Given the description of an element on the screen output the (x, y) to click on. 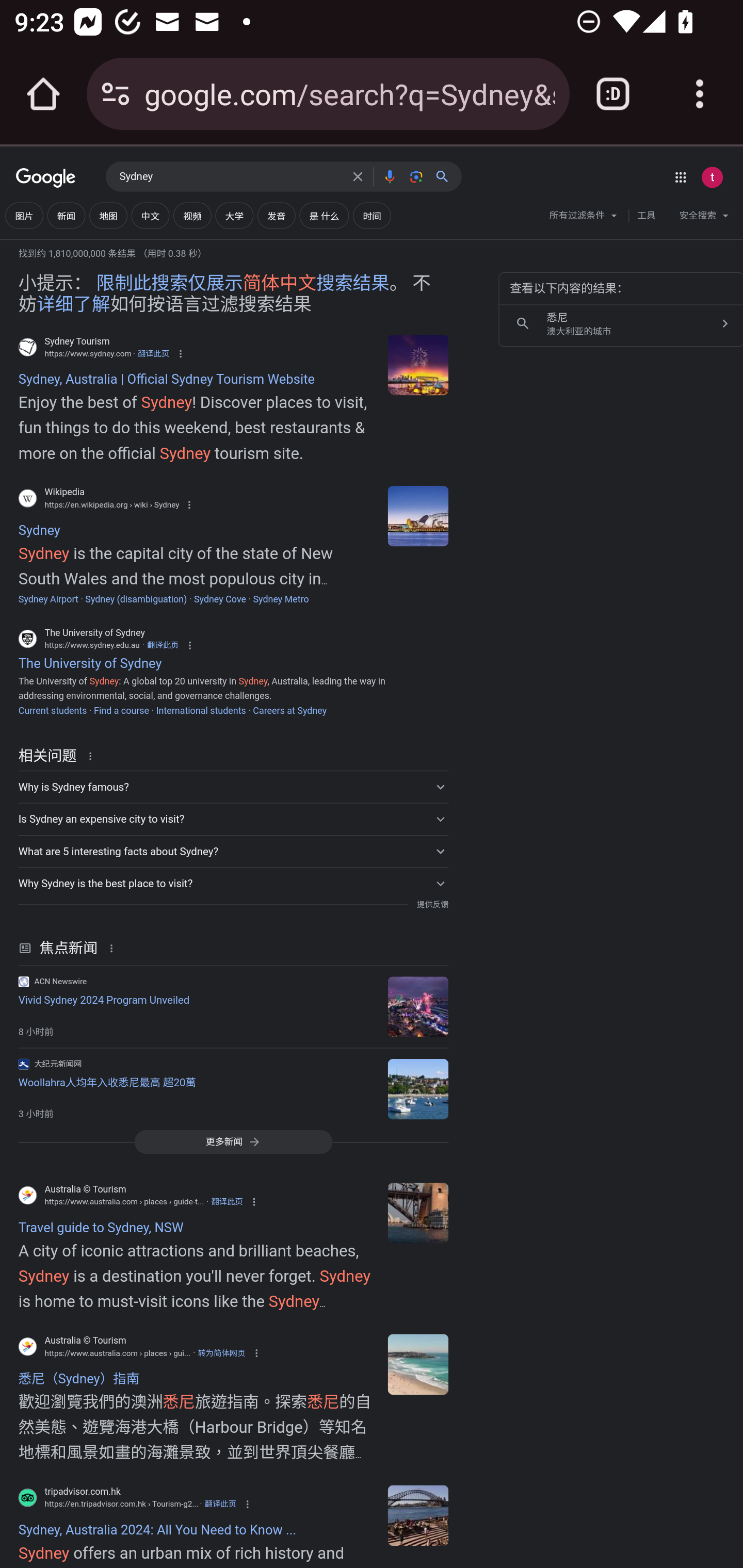
Open the home page (43, 93)
Connection is secure (115, 93)
Switch or close tabs (612, 93)
Customize and control Google Chrome (699, 93)
清除 (357, 176)
按语音搜索 (389, 176)
按图搜索 (415, 176)
搜索 (446, 176)
Google 应用 (680, 176)
Google 账号： test appium (testappium002@gmail.com) (712, 176)
Google (45, 178)
Sydney (229, 177)
图片 (24, 215)
新闻 (65, 215)
地图 (107, 215)
添加“中文” 中文 (149, 215)
视频 (191, 215)
添加“大学” 大学 (234, 215)
添加“发音” 发音 (276, 215)
添加“是 什么” 是 什么 (324, 215)
添加“时间” 时间 (371, 215)
所有过滤条件 (583, 217)
工具 (646, 215)
安全搜索 (703, 217)
限制此搜索仅展示简体中文搜索结果 限制此搜索仅展示 简体中文 搜索结果 (242, 283)
详细了解 (73, 304)
www.sydney (417, 364)
翻译此页 (152, 353)
Sydney (417, 514)
Sydney Airport (47, 598)
Sydney (disambiguation) (135, 598)
Sydney Cove (219, 598)
Sydney Metro (280, 598)
翻译此页 (162, 644)
Current students (51, 710)
Find a course (121, 710)
International students (200, 710)
Careers at Sydney (289, 710)
关于这条结果的详细信息 (93, 754)
Why is Sydney famous? (232, 785)
Is Sydney an expensive city to visit? (232, 818)
What are 5 interesting facts about Sydney? (232, 851)
Why Sydney is the best place to visit? (232, 883)
提供反馈 (432, 904)
关于这条结果的详细信息 (114, 947)
更多新闻 (232, 1141)
guide-to-sydney (417, 1212)
翻译此页 (226, 1201)
guide-to-sydney (417, 1364)
转为简体网页 (220, 1352)
Tourism-g255060-Sydney_New_South_Wales-Vacations (417, 1515)
翻译此页 (220, 1503)
